Given the description of an element on the screen output the (x, y) to click on. 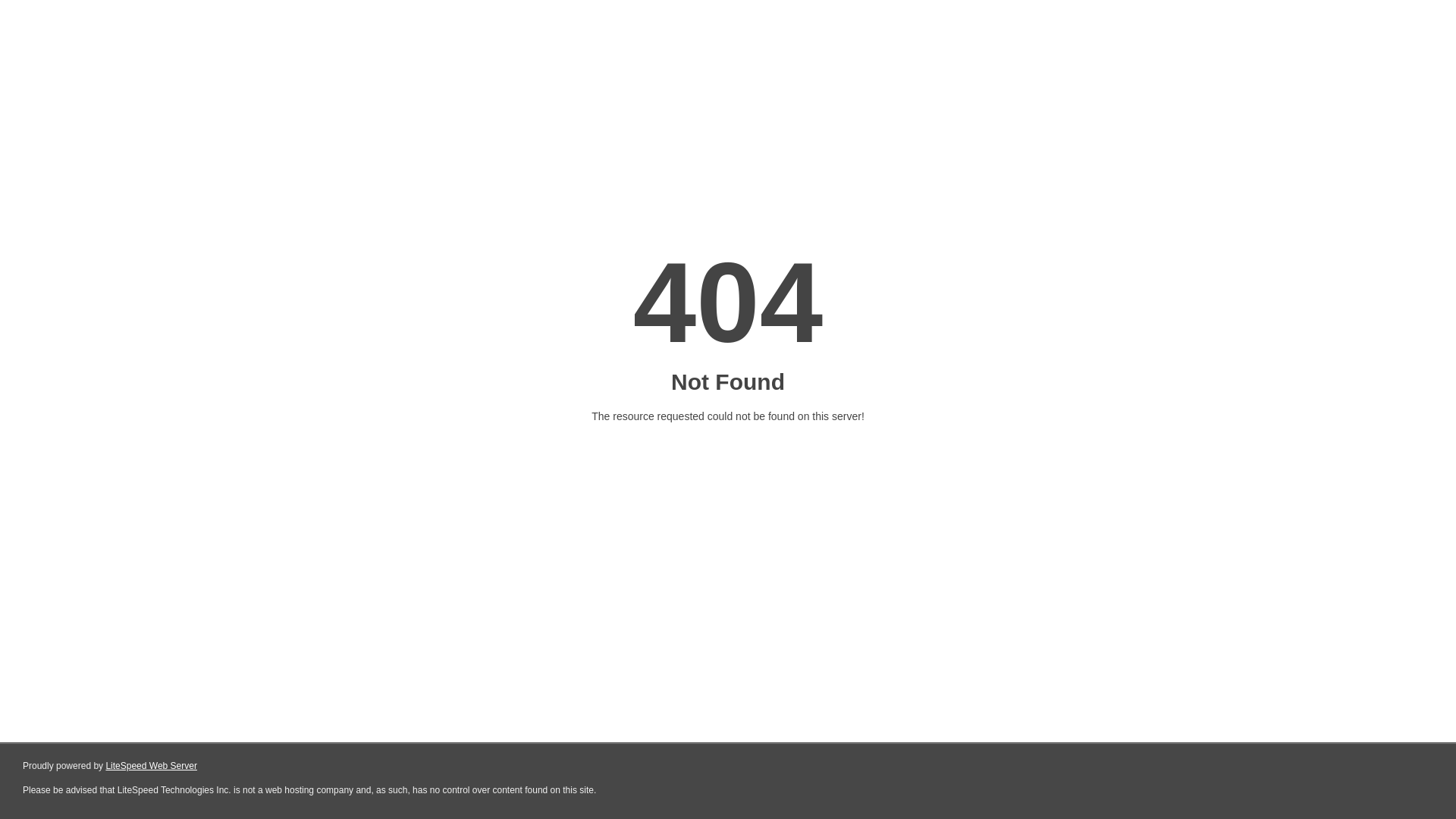
LiteSpeed Web Server Element type: text (151, 765)
